Given the description of an element on the screen output the (x, y) to click on. 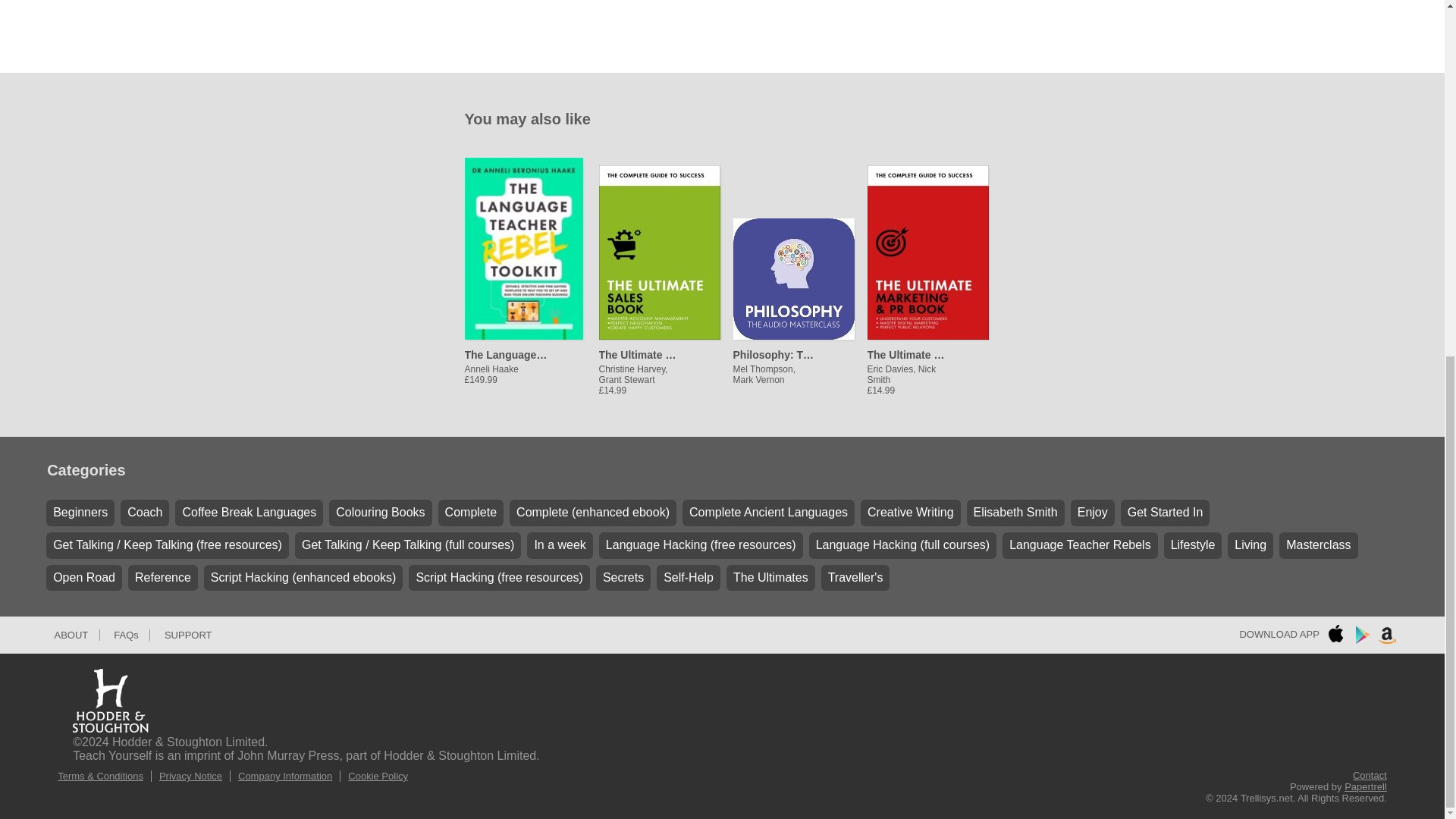
Complete Ancient Languages (768, 512)
The Language Teacher Rebel Toolkit (505, 353)
In a week (559, 545)
Creative Writing (910, 512)
Complete (470, 512)
Anneli Haake (505, 356)
Coffee Break Languages (248, 512)
Coach (144, 512)
Mel Thompson, Mark Vernon (773, 361)
Philosophy: The Audio Masterclass (773, 353)
